Given the description of an element on the screen output the (x, y) to click on. 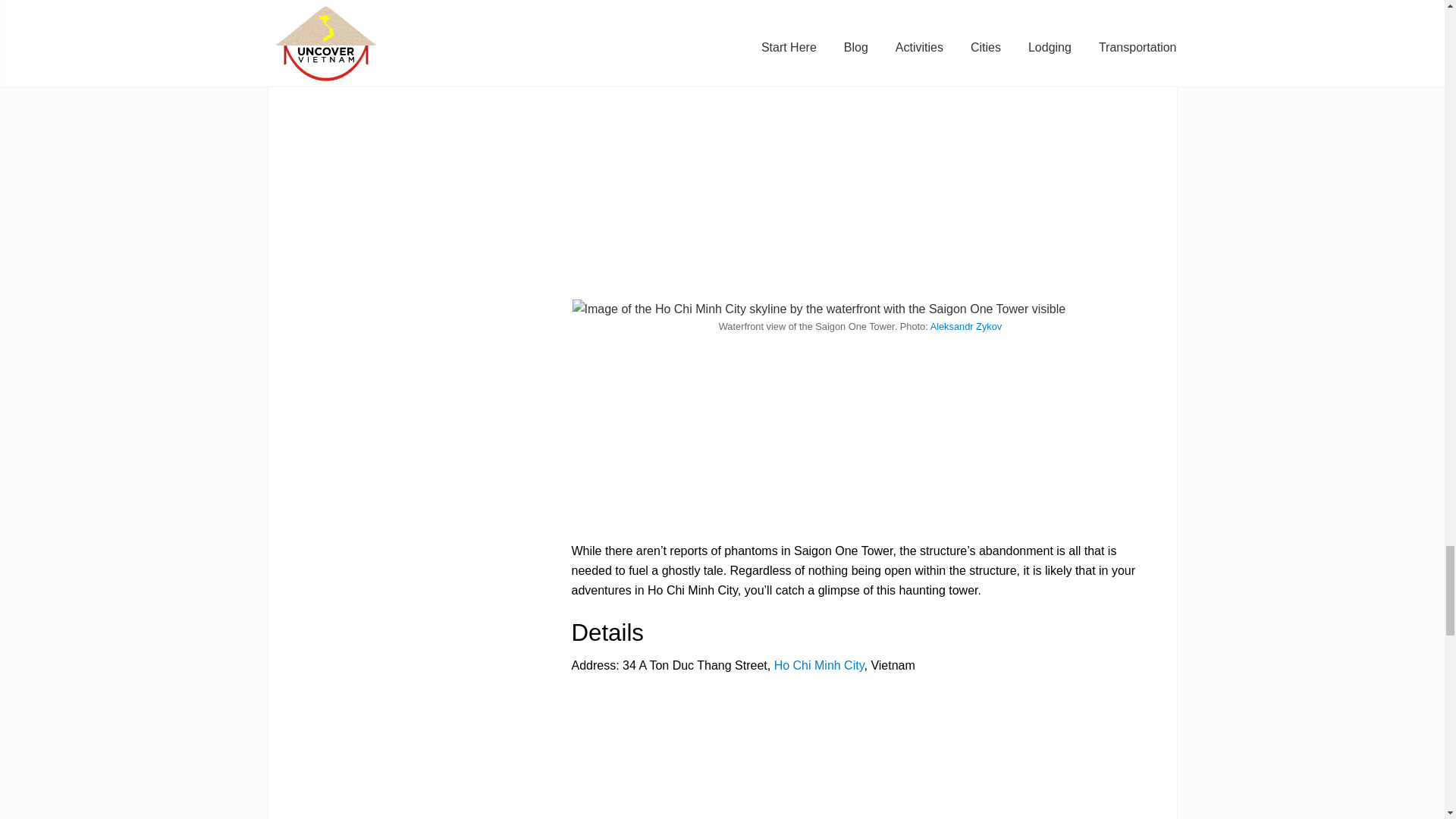
Sheraton Saigon Hotel (928, 15)
Reverie Saigon (612, 15)
Aleksandr Zykov (966, 326)
Ho Chi Minh City (819, 665)
Renaissance Riverside Hotel (738, 15)
